Given the description of an element on the screen output the (x, y) to click on. 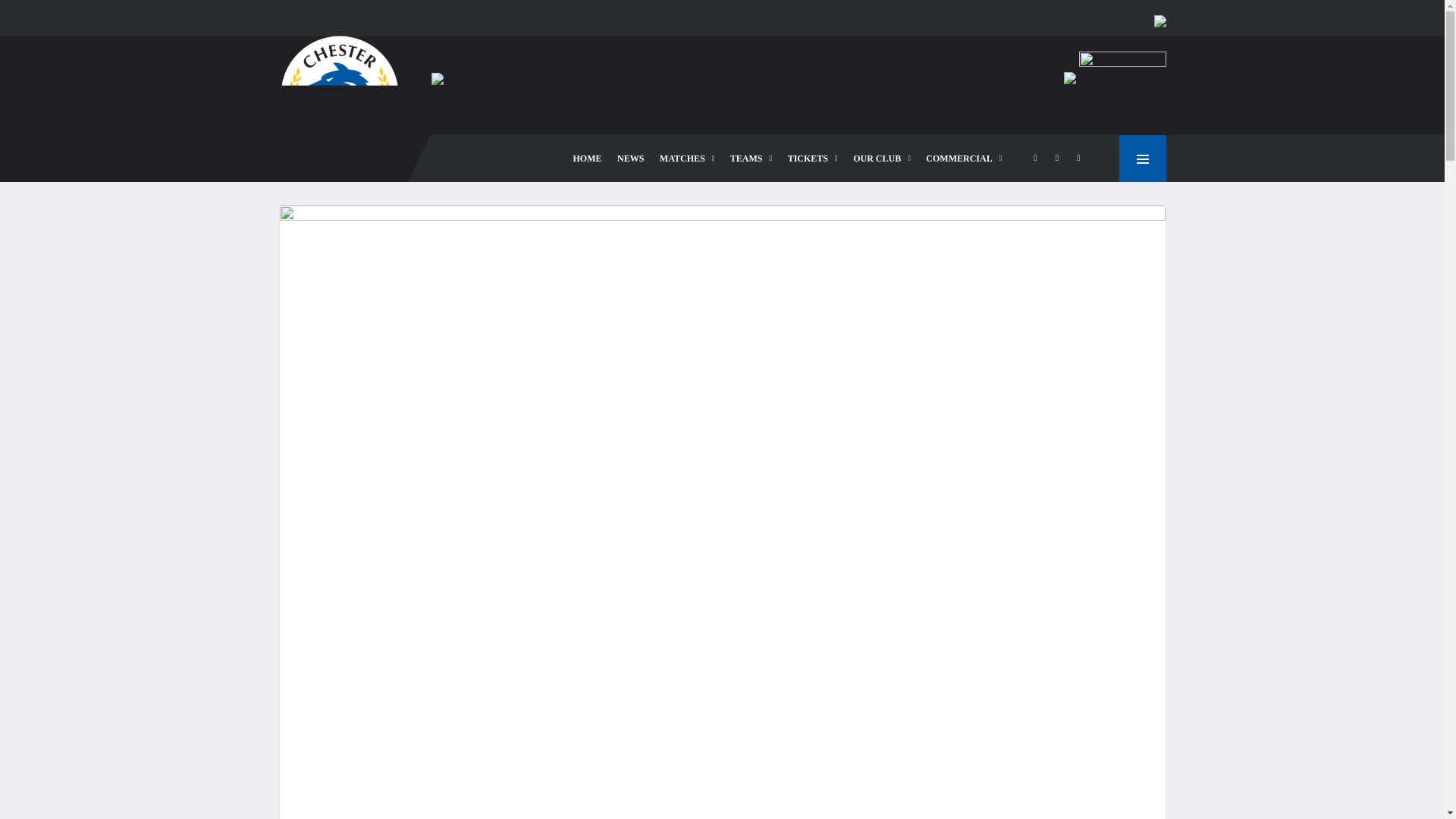
HOME (587, 158)
MATCHES (686, 158)
NEWS (630, 158)
TICKETS (812, 158)
OUR CLUB (882, 158)
TEAMS (750, 158)
